Given the description of an element on the screen output the (x, y) to click on. 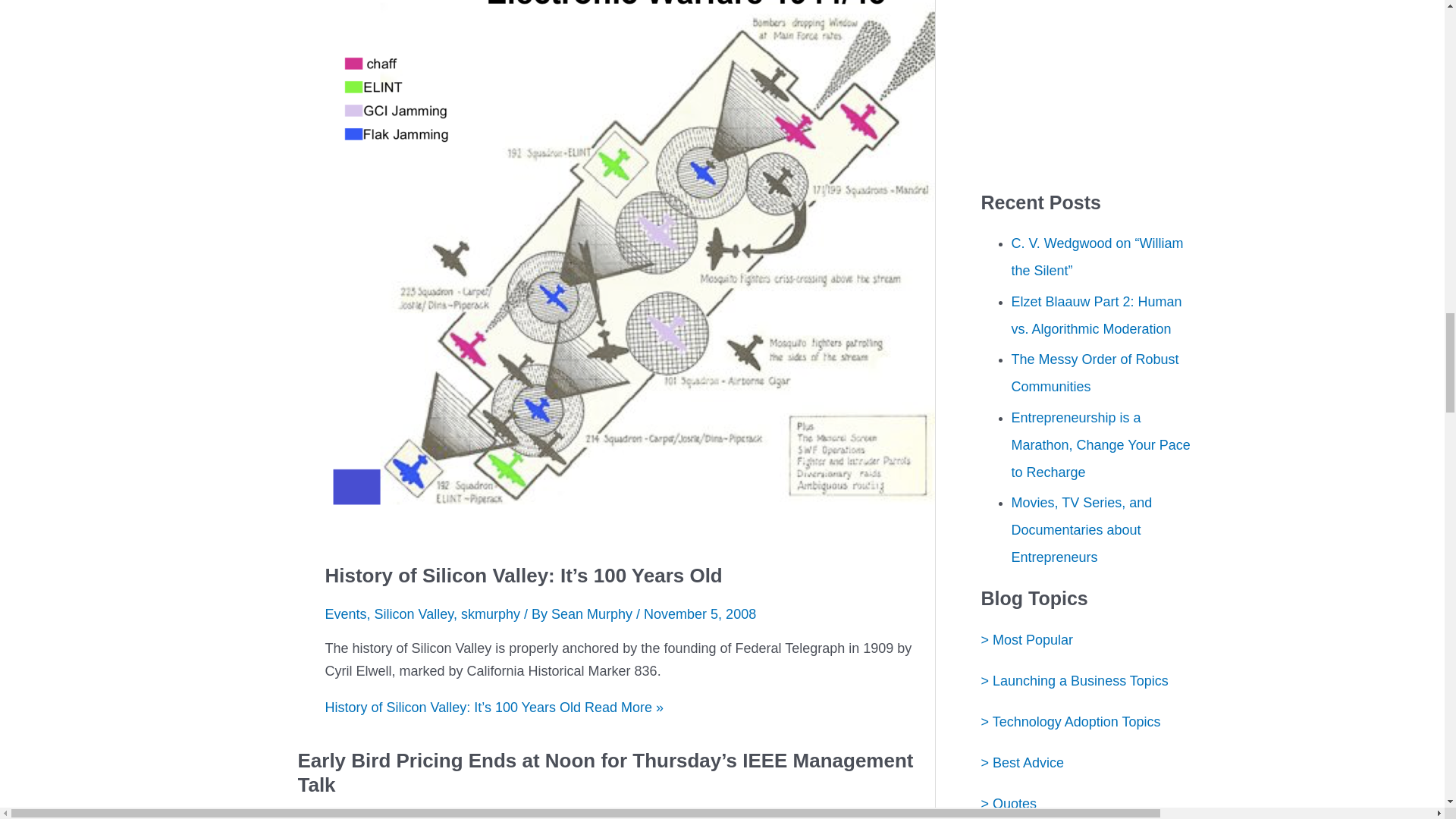
View all posts by Sean Murphy (593, 613)
View all posts by Theresa Shafer (418, 817)
